Given the description of an element on the screen output the (x, y) to click on. 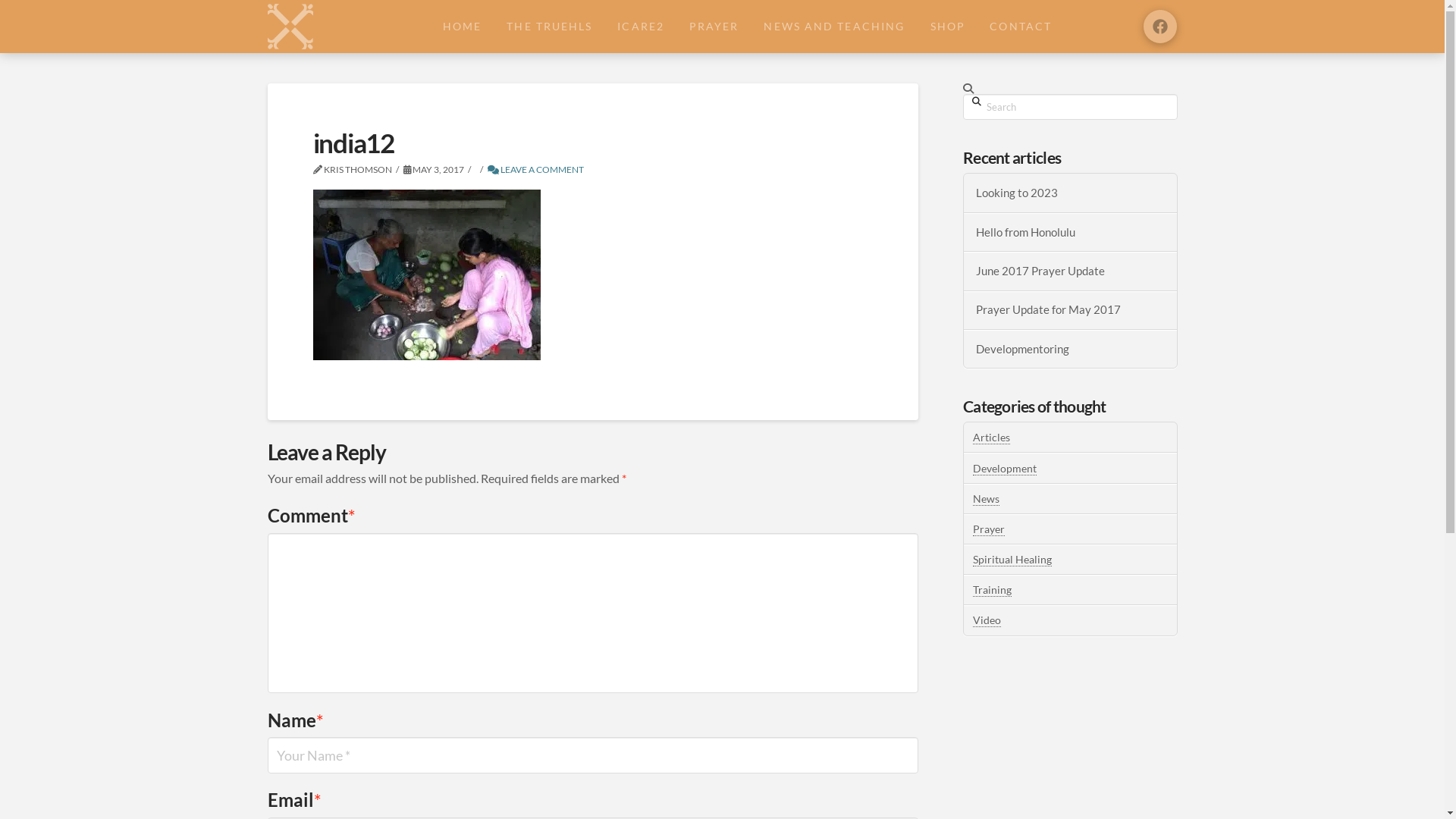
Training Element type: text (991, 589)
Video Element type: text (986, 620)
Hello from Honolulu Element type: text (1069, 232)
Prayer Update for May 2017 Element type: text (1069, 309)
Development Element type: text (1004, 468)
CONTACT Element type: text (1019, 26)
THE TRUEHLS Element type: text (548, 26)
HOME Element type: text (461, 26)
Articles Element type: text (991, 437)
Prayer Element type: text (988, 529)
Looking to 2023 Element type: text (1069, 192)
Spiritual Healing Element type: text (1011, 559)
SHOP Element type: text (946, 26)
News Element type: text (985, 498)
NEWS AND TEACHING Element type: text (833, 26)
PRAYER Element type: text (712, 26)
LEAVE A COMMENT Element type: text (535, 169)
June 2017 Prayer Update Element type: text (1069, 270)
Developmentoring Element type: text (1069, 349)
ICARE2 Element type: text (640, 26)
